Given the description of an element on the screen output the (x, y) to click on. 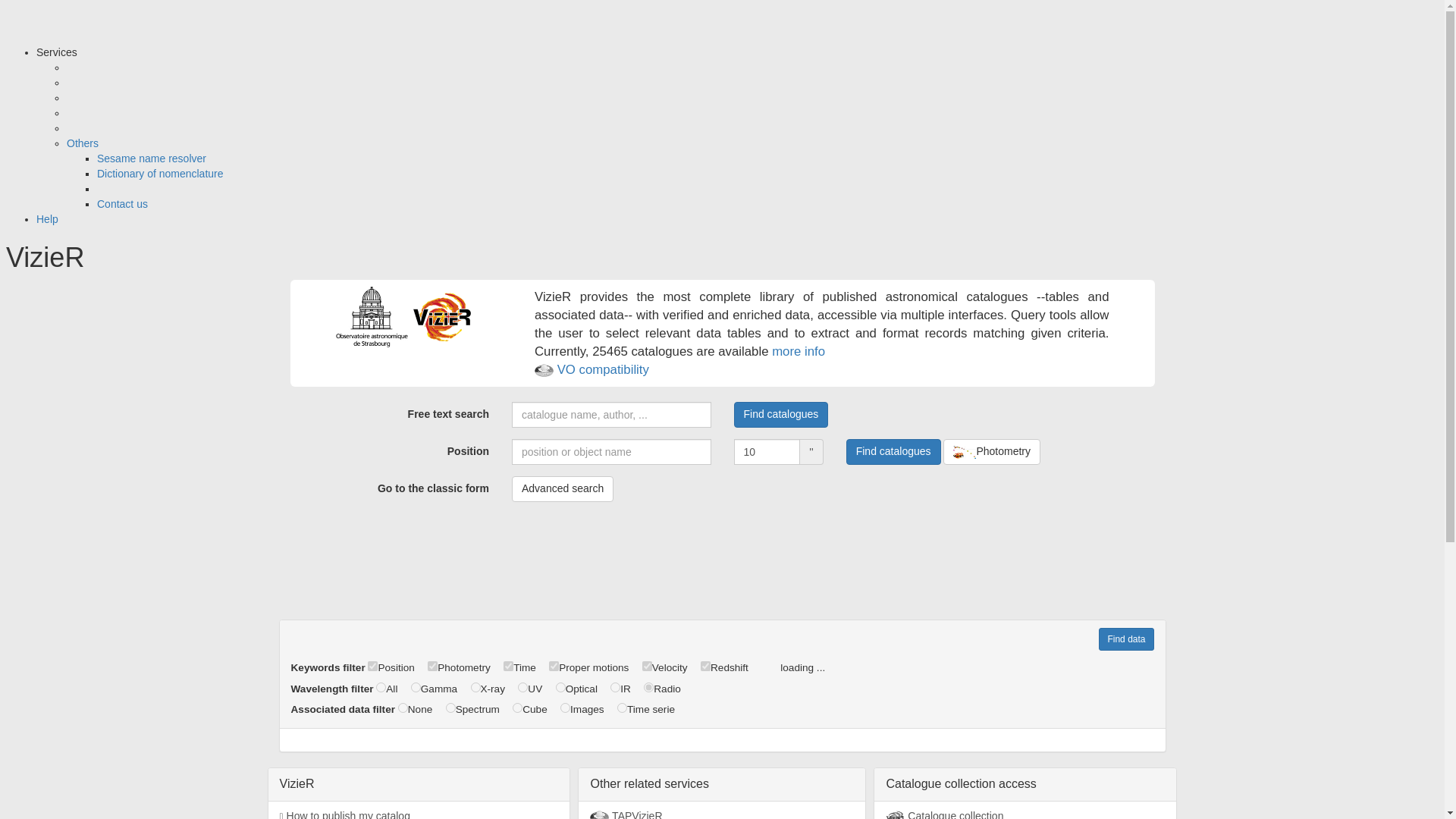
Catalogue collection (1025, 810)
option4 (615, 687)
Others (82, 143)
Advanced search (562, 488)
option6 (705, 665)
Contact us (122, 203)
Query all selected catalogues (1126, 639)
option1 (415, 687)
option2 (433, 665)
option1 (372, 665)
